Given the description of an element on the screen output the (x, y) to click on. 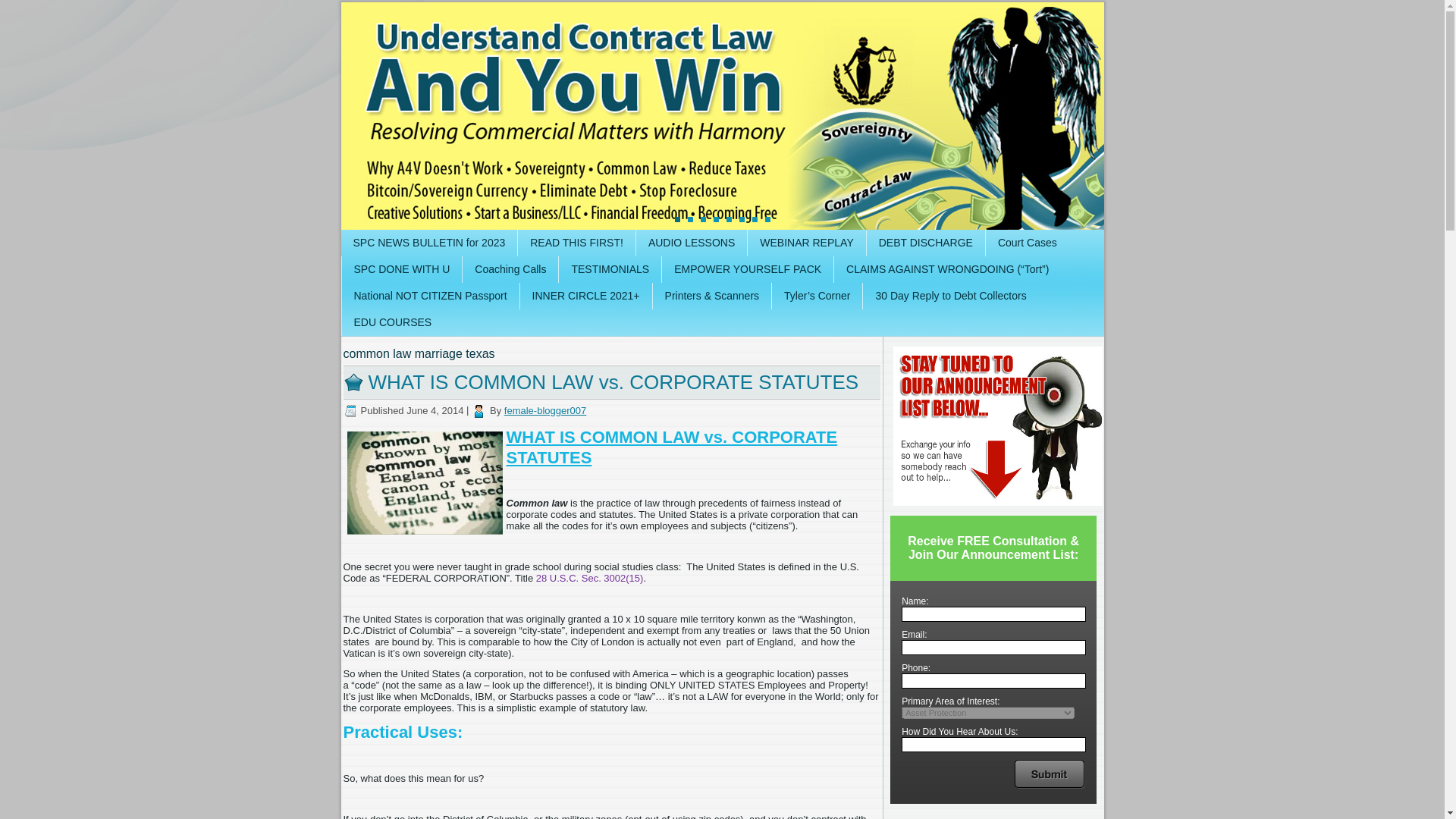
SPC DONE WITH U (400, 269)
TESTIMONIALS (610, 269)
WEBINAR REPLAY (806, 243)
EMPOWER YOURSELF PACK (747, 269)
Court Cases (1026, 243)
DEBT DISCHARGE (925, 243)
DEBT DISCHARGE (925, 243)
READ THIS FIRST! (576, 243)
WEBINAR REPLAY (806, 243)
AUDIO LESSONS (691, 243)
